Given the description of an element on the screen output the (x, y) to click on. 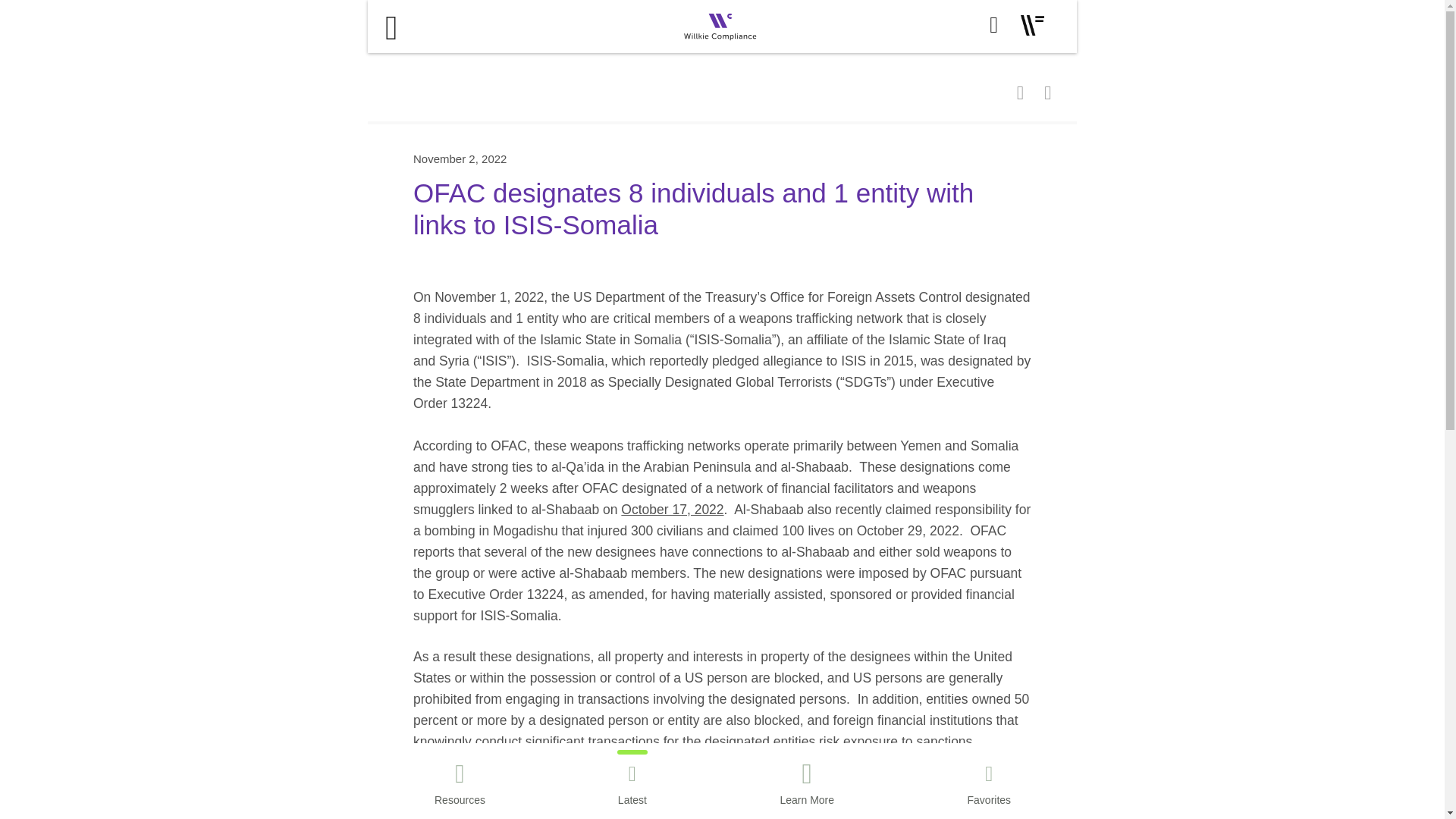
Department of Treasury Press Release (917, 782)
Learn More (807, 785)
Latest (632, 785)
Resources (459, 785)
Favorites (989, 785)
October 17, 2022 (672, 509)
